Given the description of an element on the screen output the (x, y) to click on. 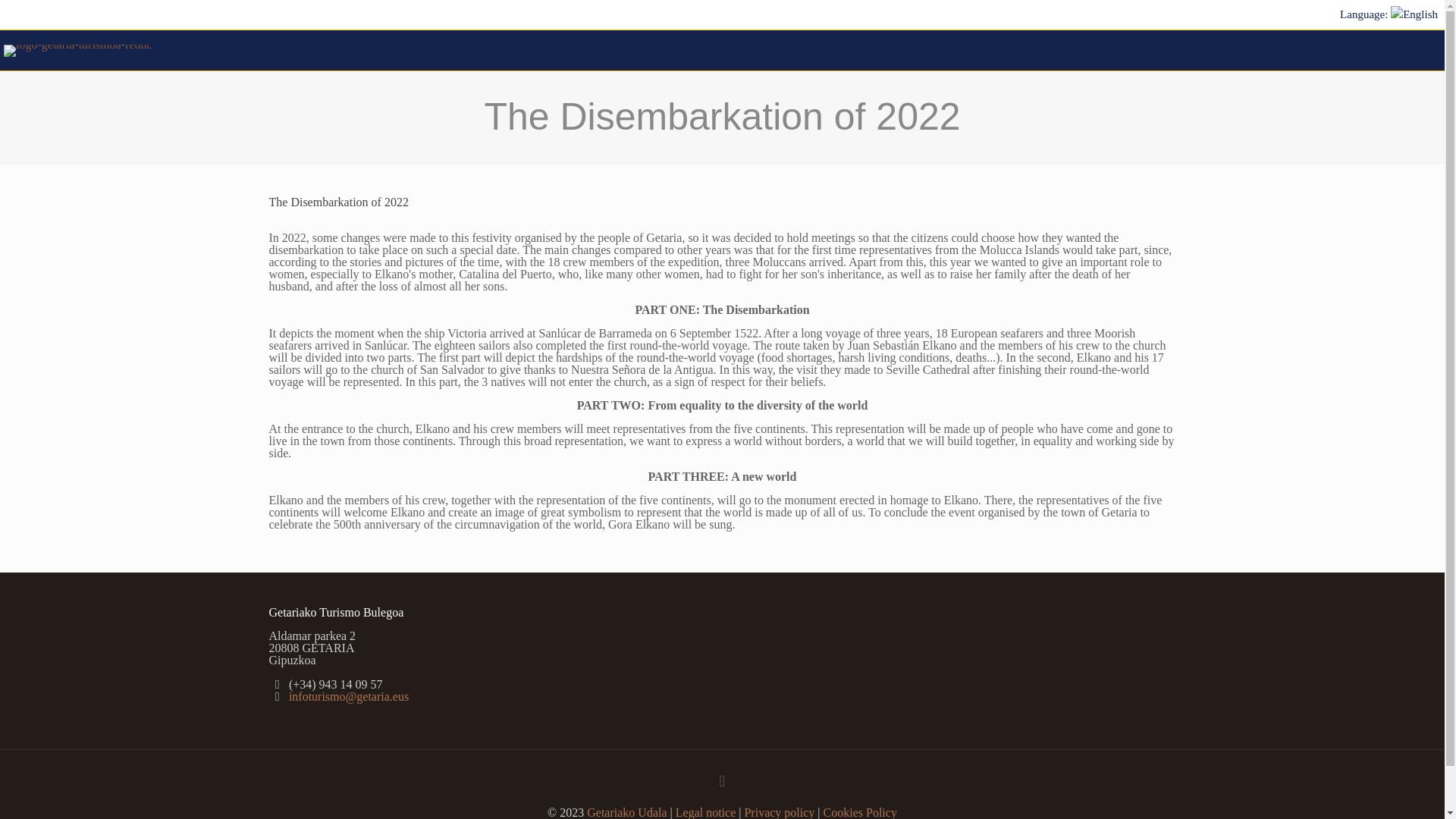
English (1382, 14)
Language:  (1382, 14)
